Given the description of an element on the screen output the (x, y) to click on. 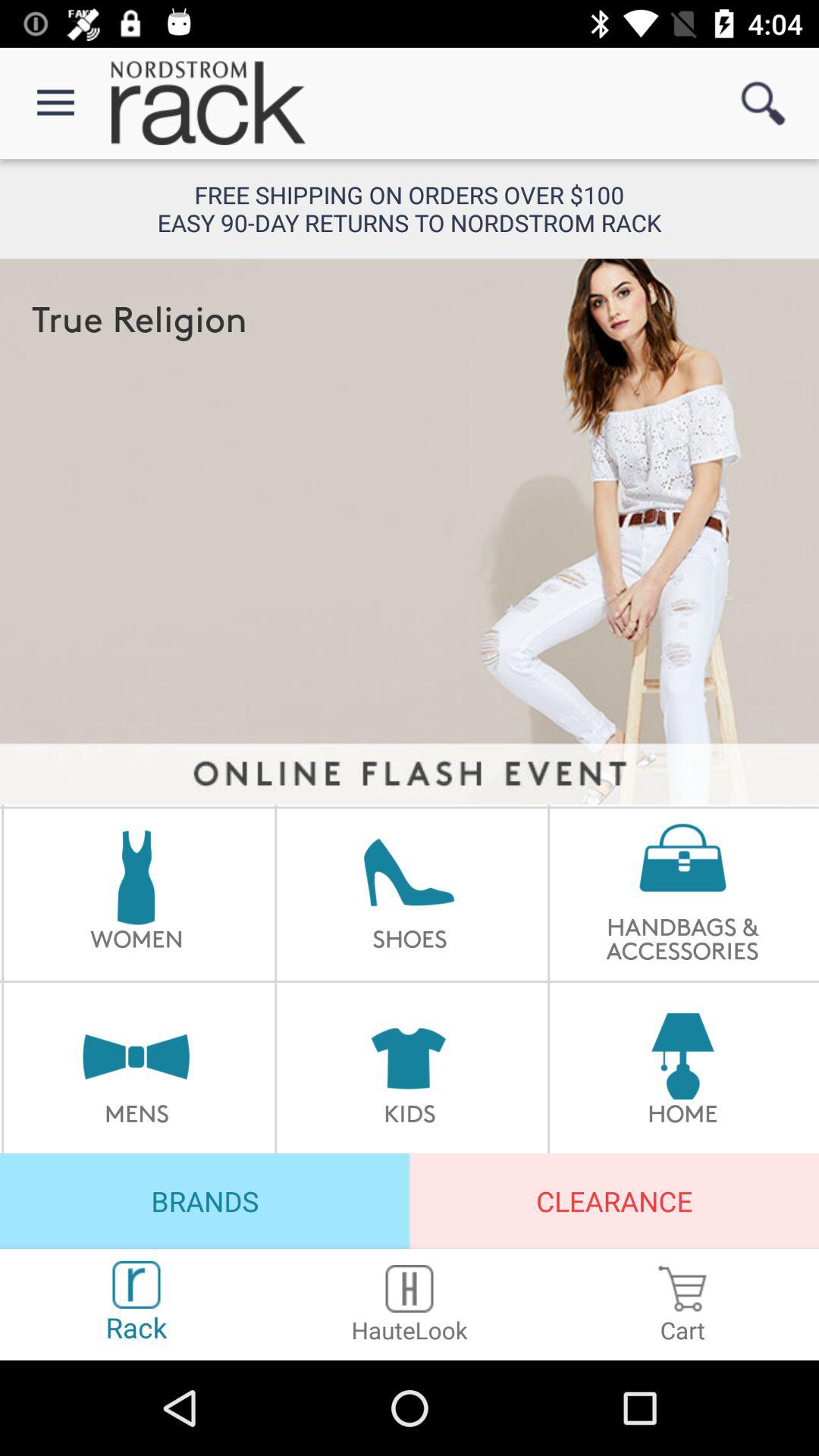
select the item to the right of the free shipping on (763, 103)
